Given the description of an element on the screen output the (x, y) to click on. 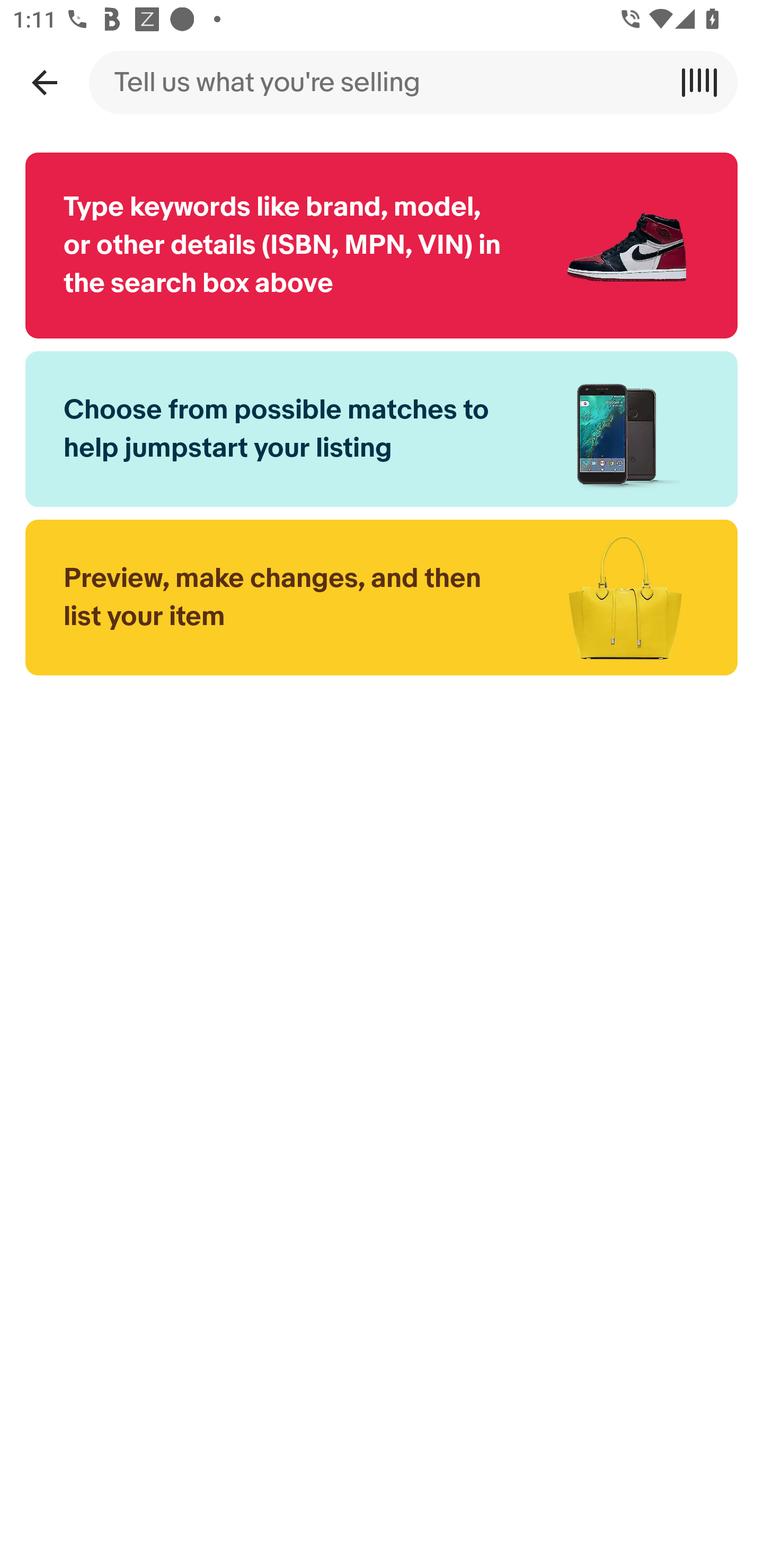
Navigate up (44, 82)
Scan a barcode (705, 82)
Tell us what you're selling (381, 82)
